Given the description of an element on the screen output the (x, y) to click on. 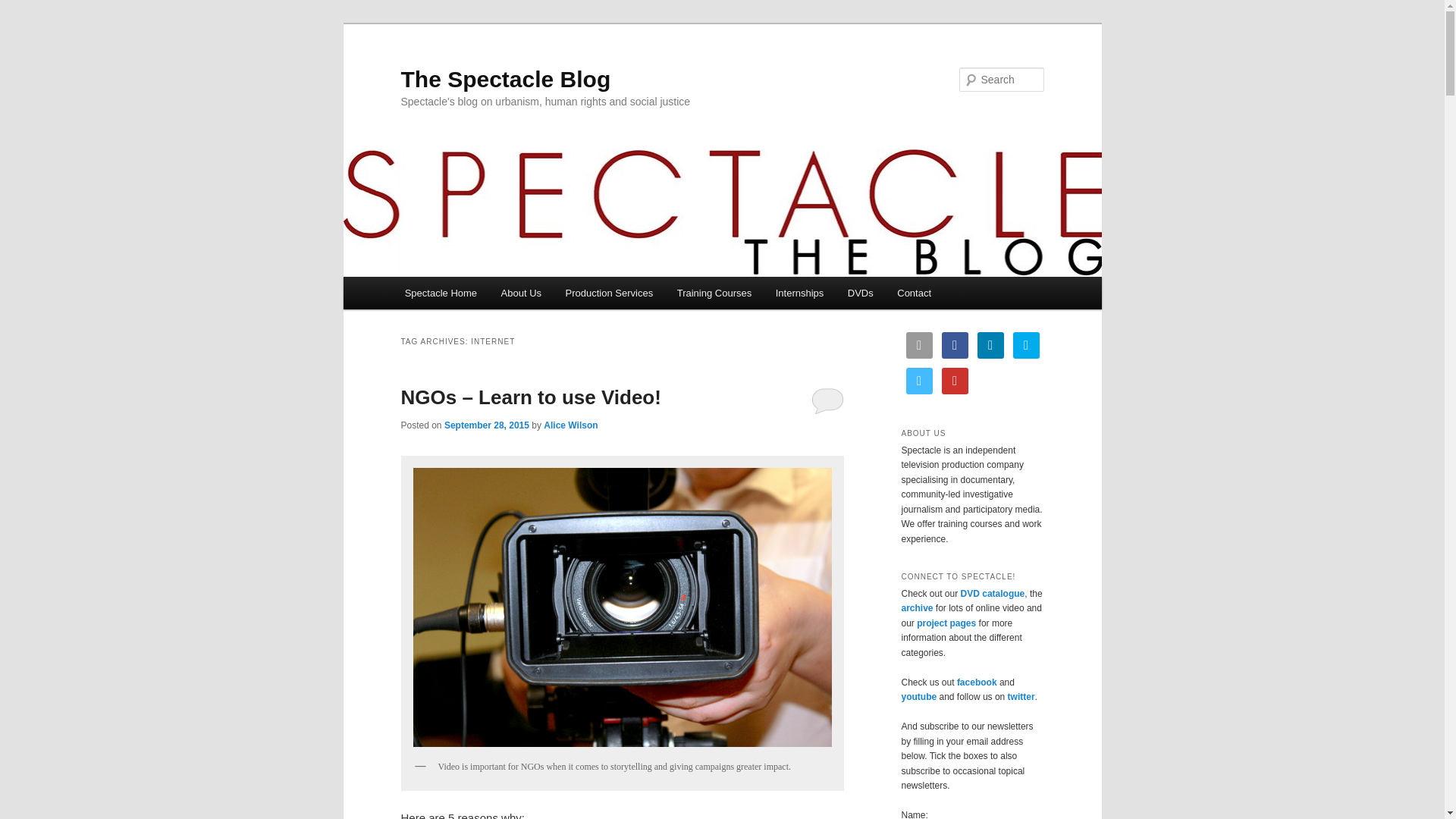
View all posts by Alice Wilson (569, 425)
Spectacle Home (441, 292)
September 28, 2015 (486, 425)
Alice Wilson (569, 425)
About Us (521, 292)
Training Courses (713, 292)
Production Services (609, 292)
DVDs (860, 292)
Search (24, 8)
